Given the description of an element on the screen output the (x, y) to click on. 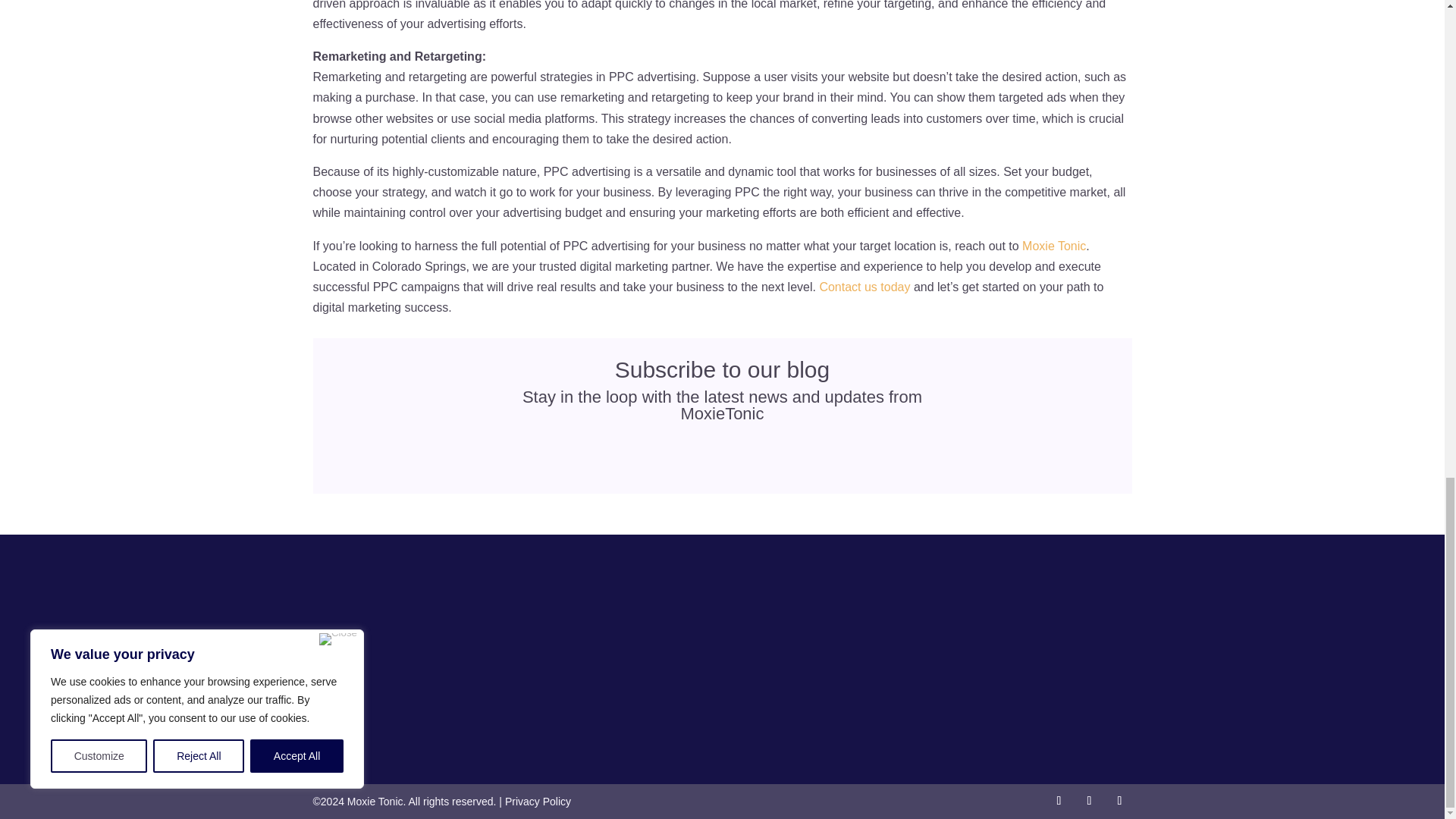
Follow on Instagram (1088, 800)
Follow on LinkedIn (1118, 800)
Follow on Facebook (1058, 800)
